Given the description of an element on the screen output the (x, y) to click on. 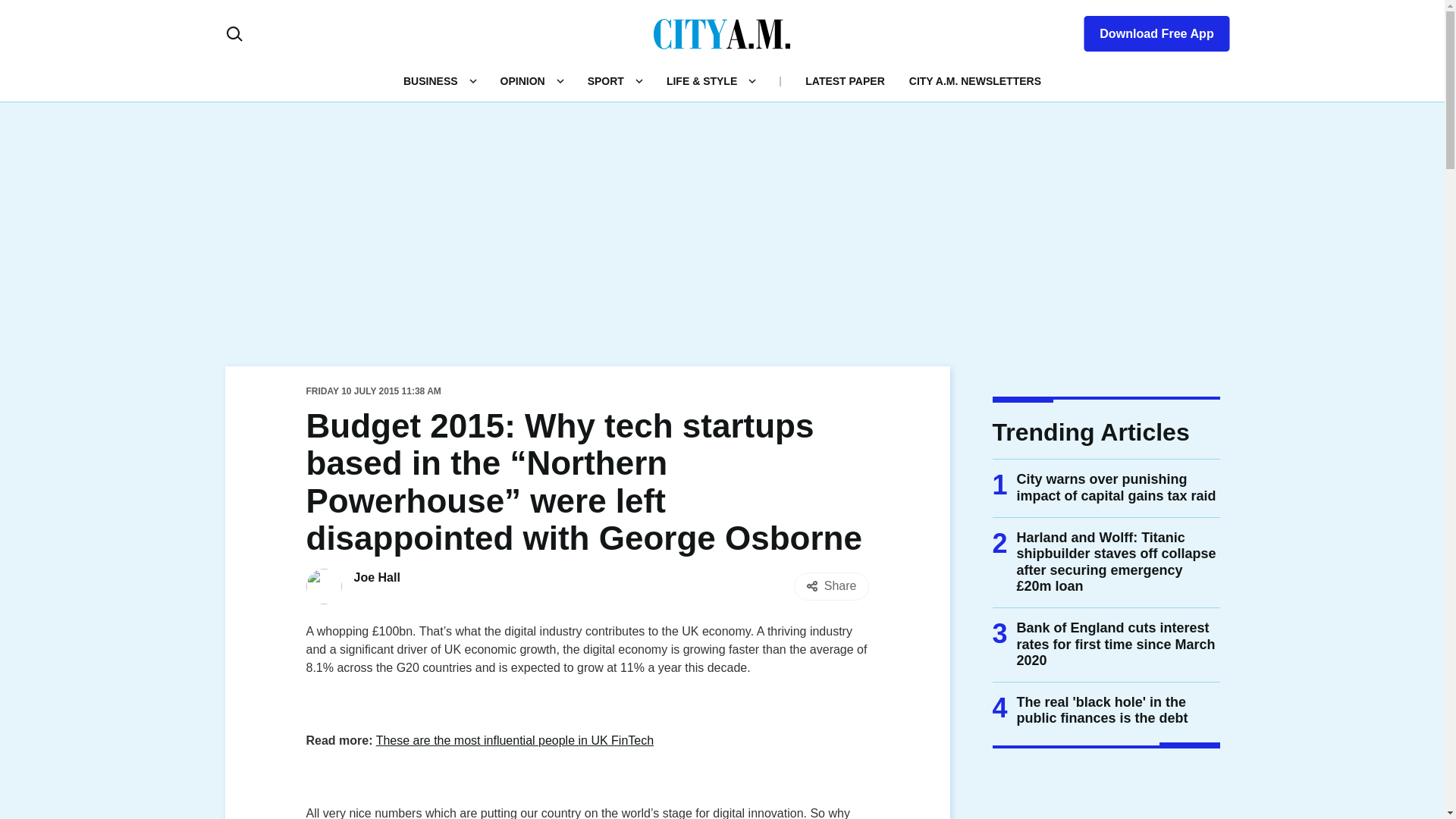
CityAM (721, 33)
SPORT (606, 80)
Download Free App (1146, 30)
OPINION (522, 80)
BUSINESS (430, 80)
